Given the description of an element on the screen output the (x, y) to click on. 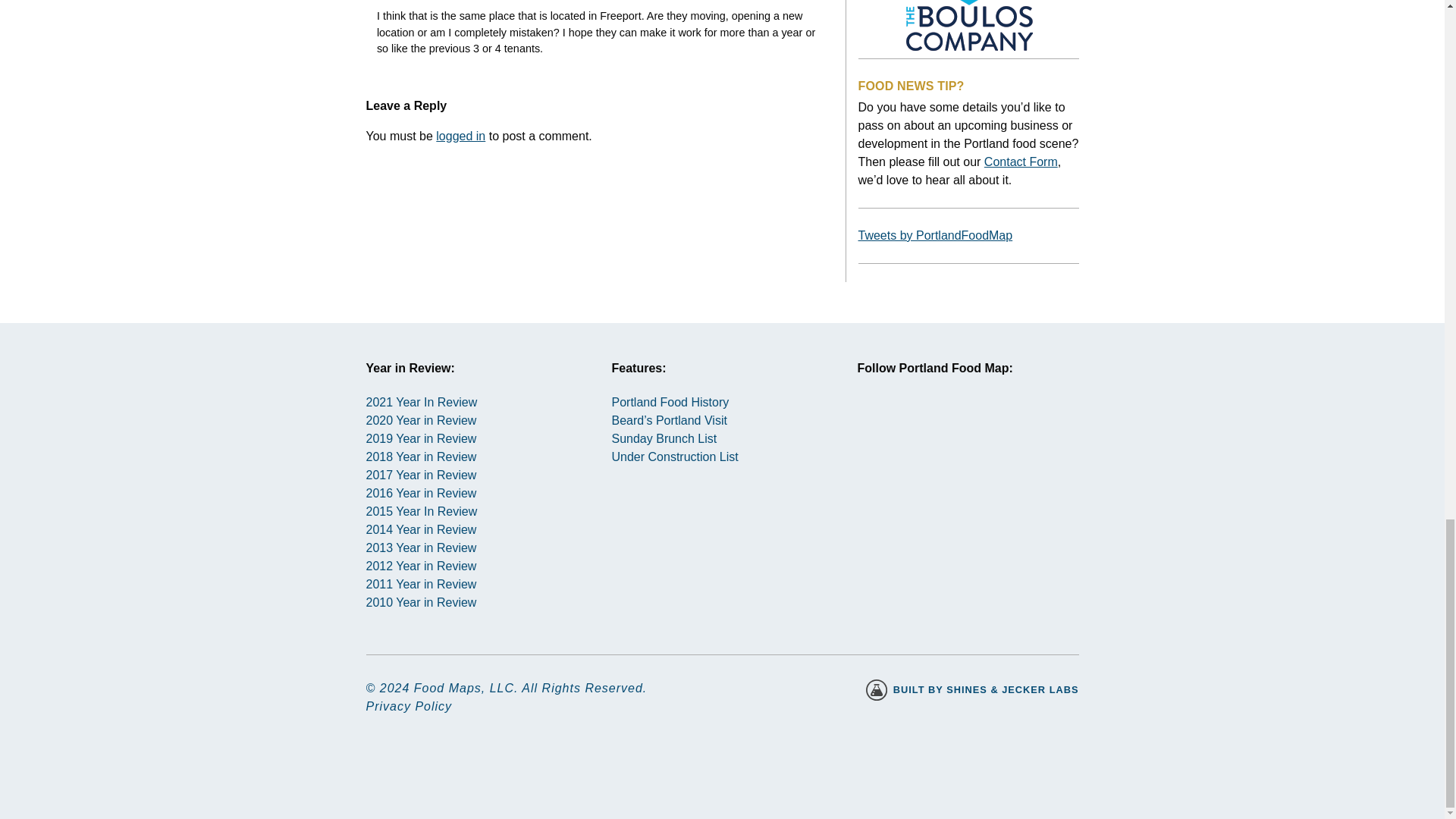
Twitter icon (938, 427)
Instagram icon (882, 427)
logged in (459, 135)
RSS icon (992, 427)
